Given the description of an element on the screen output the (x, y) to click on. 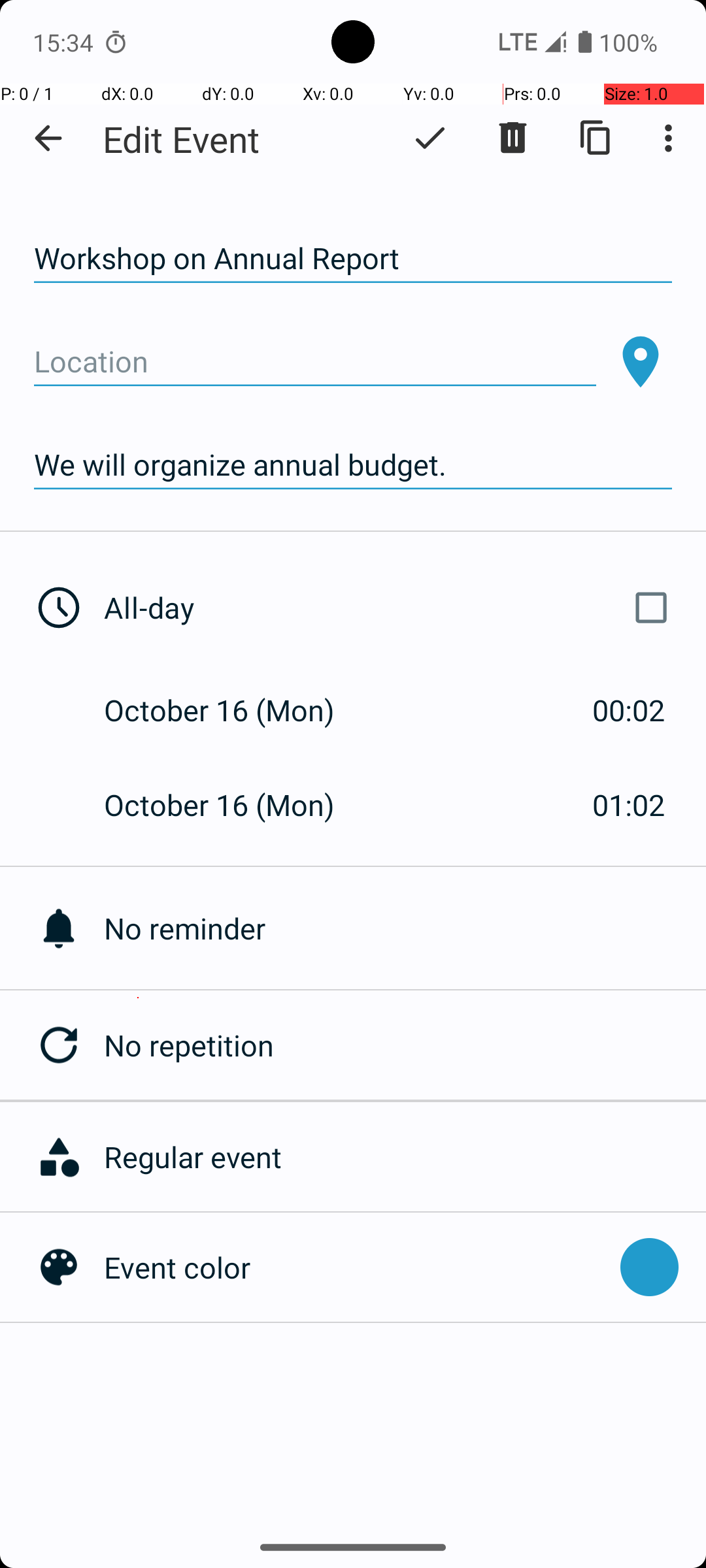
We will organize annual budget. Element type: android.widget.EditText (352, 465)
00:02 Element type: android.widget.TextView (628, 709)
01:02 Element type: android.widget.TextView (628, 804)
